Given the description of an element on the screen output the (x, y) to click on. 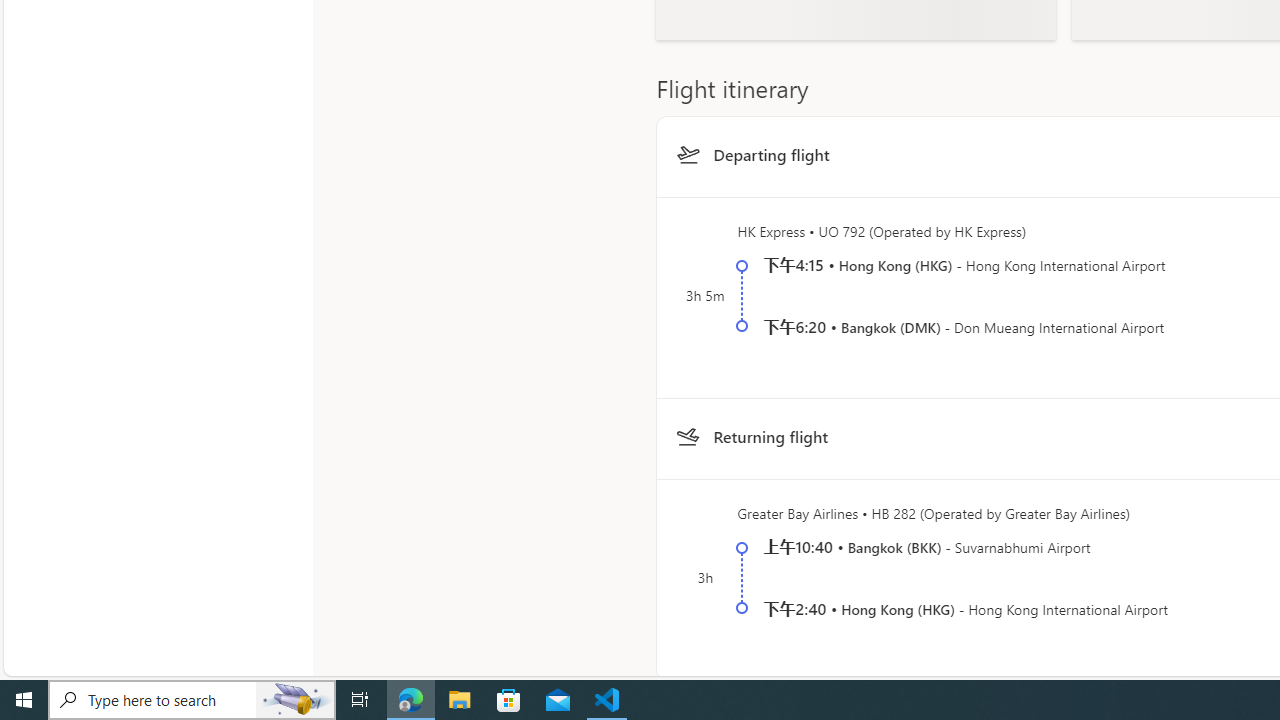
Flight logo (687, 437)
